Given the description of an element on the screen output the (x, y) to click on. 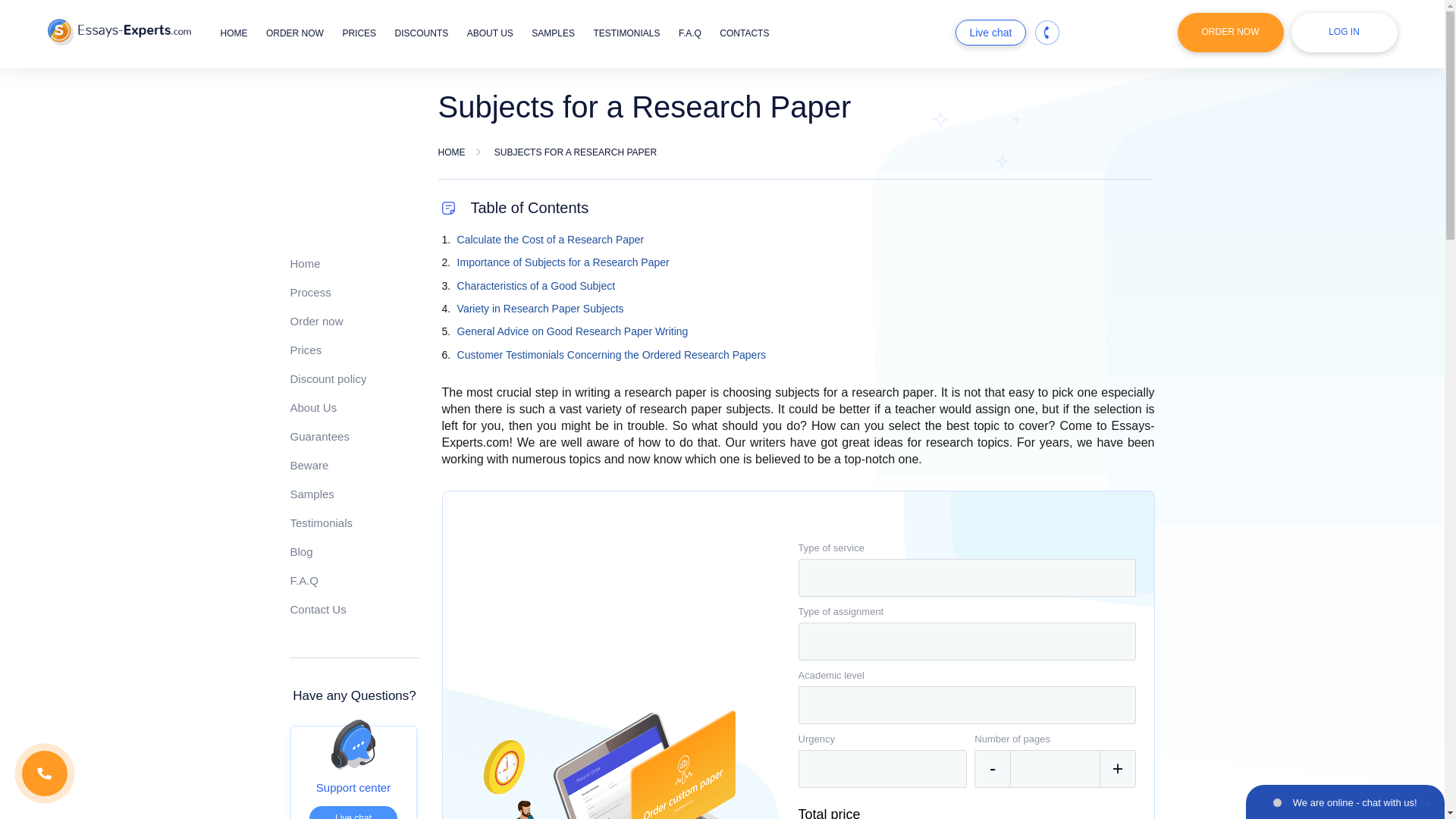
TESTIMONIALS (625, 32)
F.A.Q (303, 580)
Discount policy (327, 378)
CONTACTS (743, 32)
Blog (301, 551)
About Us (312, 407)
Essays-Experts.com (118, 31)
F.A.Q (689, 32)
PRICES (358, 32)
Guarantees (319, 436)
Prices (305, 349)
Process (309, 291)
SAMPLES (553, 32)
Testimonials (320, 522)
